Given the description of an element on the screen output the (x, y) to click on. 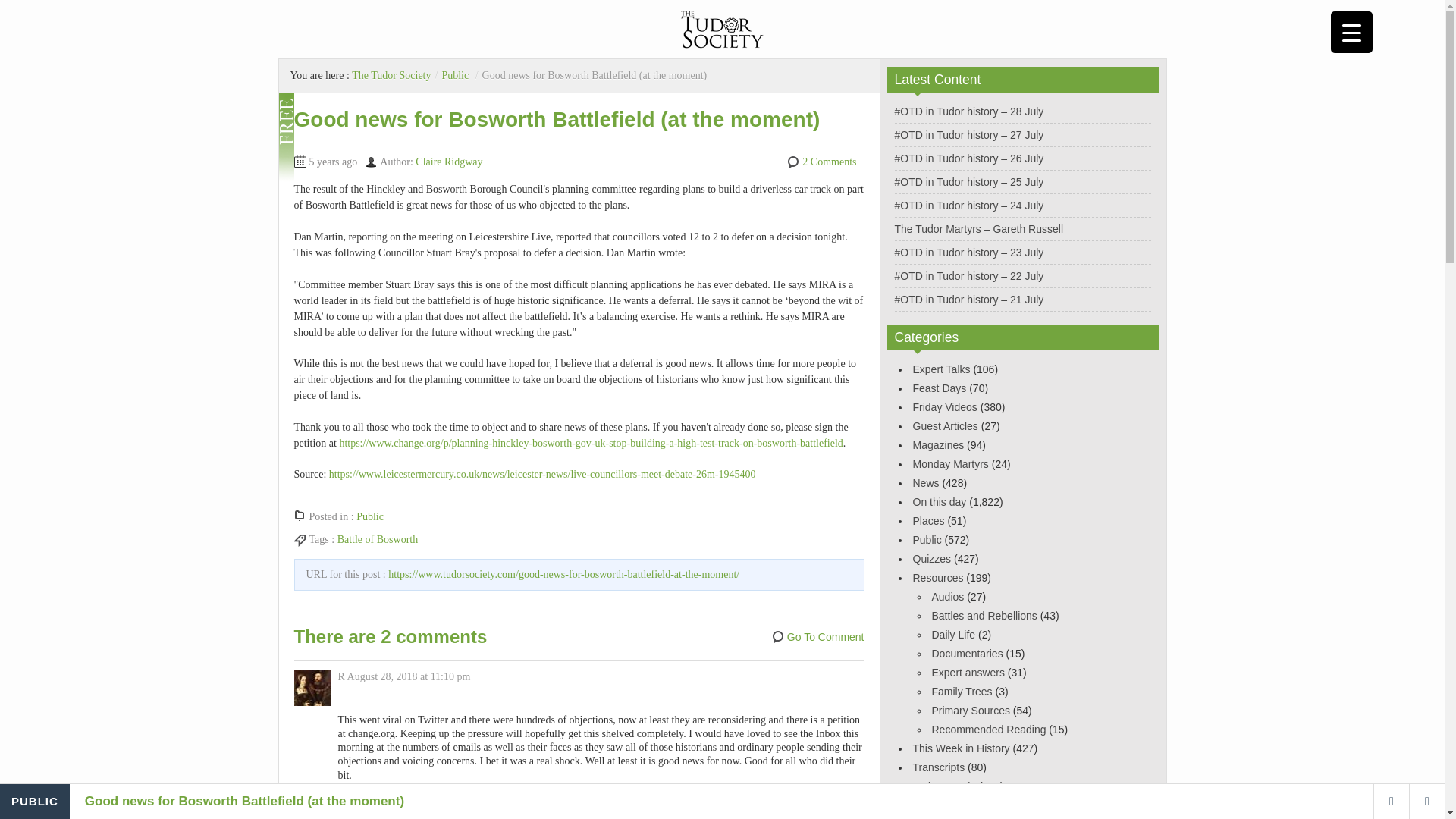
2 Comments (829, 161)
Expert Talks (941, 369)
The Tudor Society (391, 75)
Friday Videos (944, 407)
Feast Days (939, 387)
Public (370, 516)
Guest Articles (945, 426)
Go To Comment (817, 636)
Battle of Bosworth (378, 539)
Public (454, 75)
Reply (349, 797)
Claire Ridgway (447, 161)
